Given the description of an element on the screen output the (x, y) to click on. 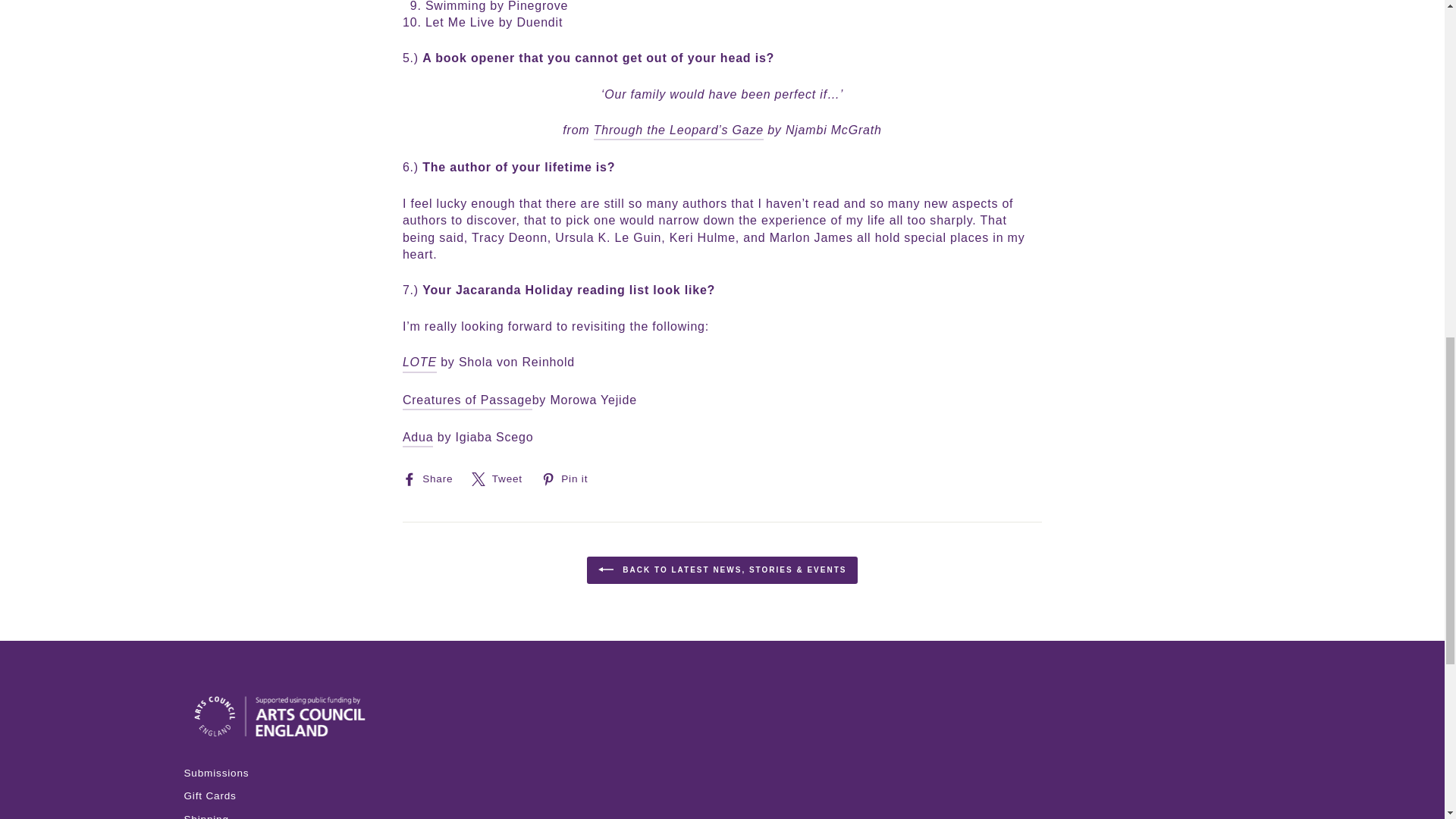
Through the Leopard's G (678, 131)
Share on Facebook (433, 478)
creatures of passage (467, 401)
lote (419, 362)
Pin on Pinterest (569, 478)
adua (418, 438)
Tweet on X (502, 478)
